Given the description of an element on the screen output the (x, y) to click on. 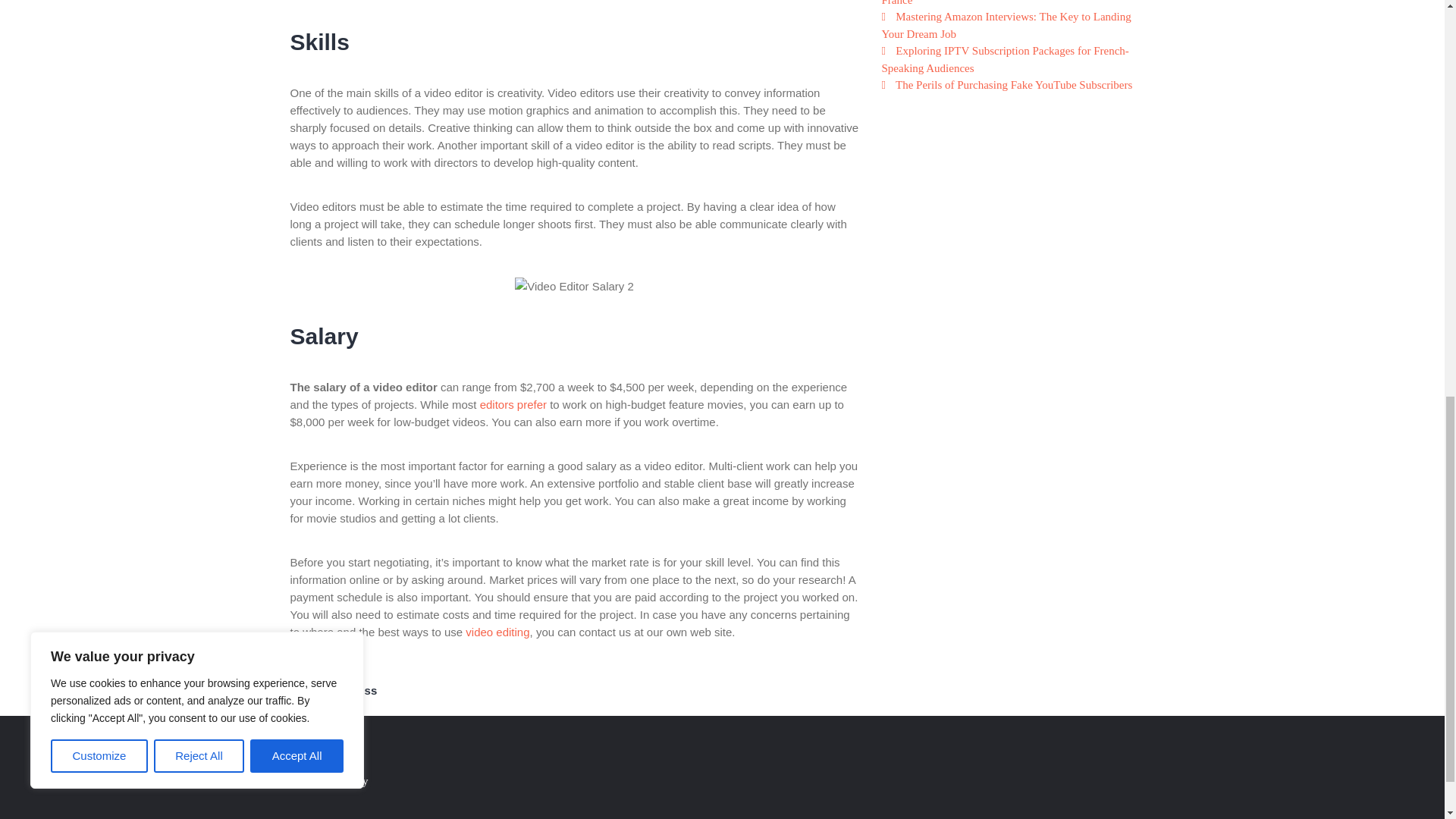
video editing (497, 631)
business (352, 689)
editors prefer (513, 404)
